Given the description of an element on the screen output the (x, y) to click on. 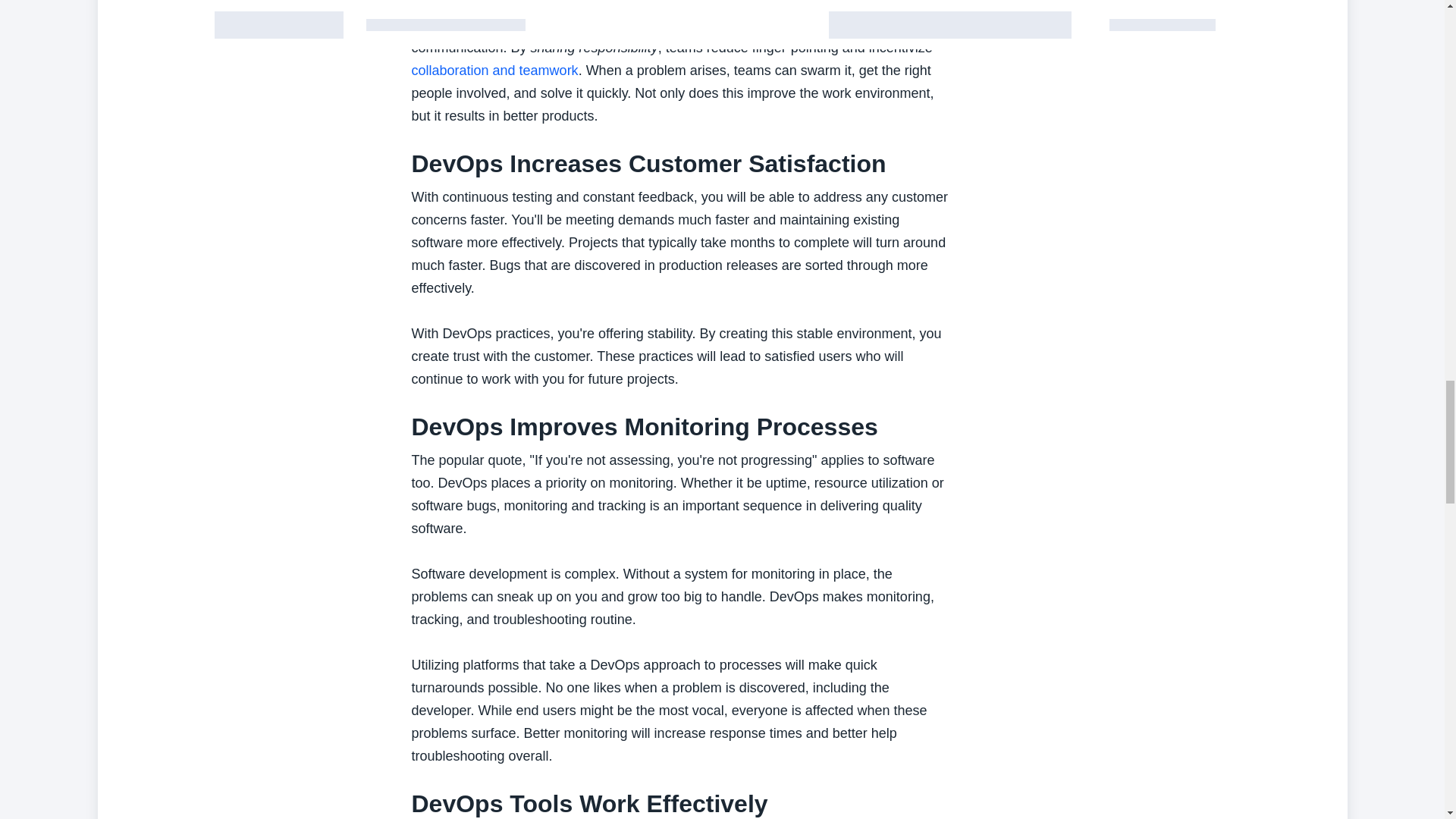
collaboration and teamwork (494, 70)
